Given the description of an element on the screen output the (x, y) to click on. 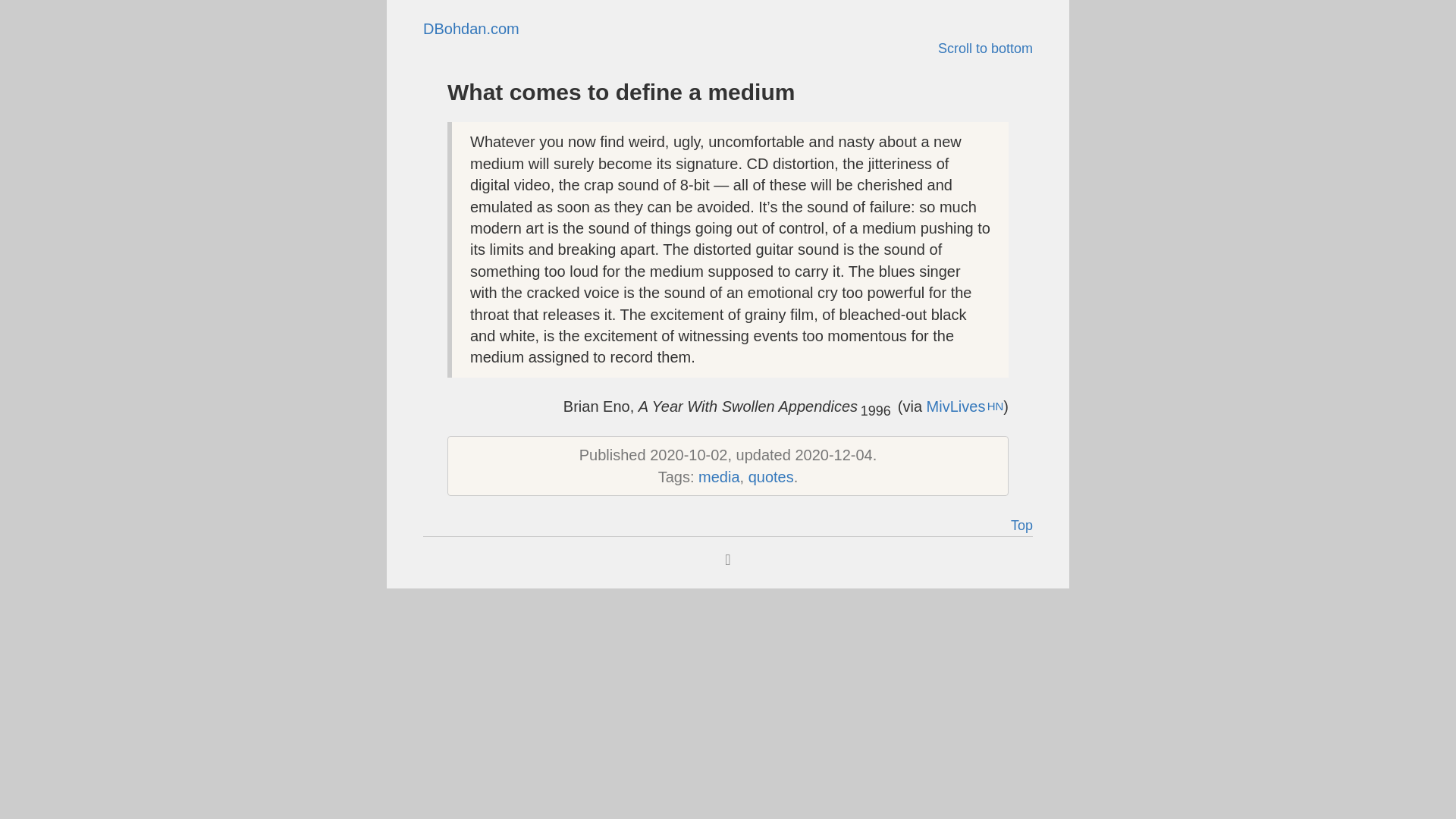
Top (727, 526)
Top (1021, 525)
Scroll to bottom (984, 48)
quotes (770, 476)
media (718, 476)
Scroll to bottom (727, 48)
DBohdan.com (471, 28)
MivLives (965, 406)
